Given the description of an element on the screen output the (x, y) to click on. 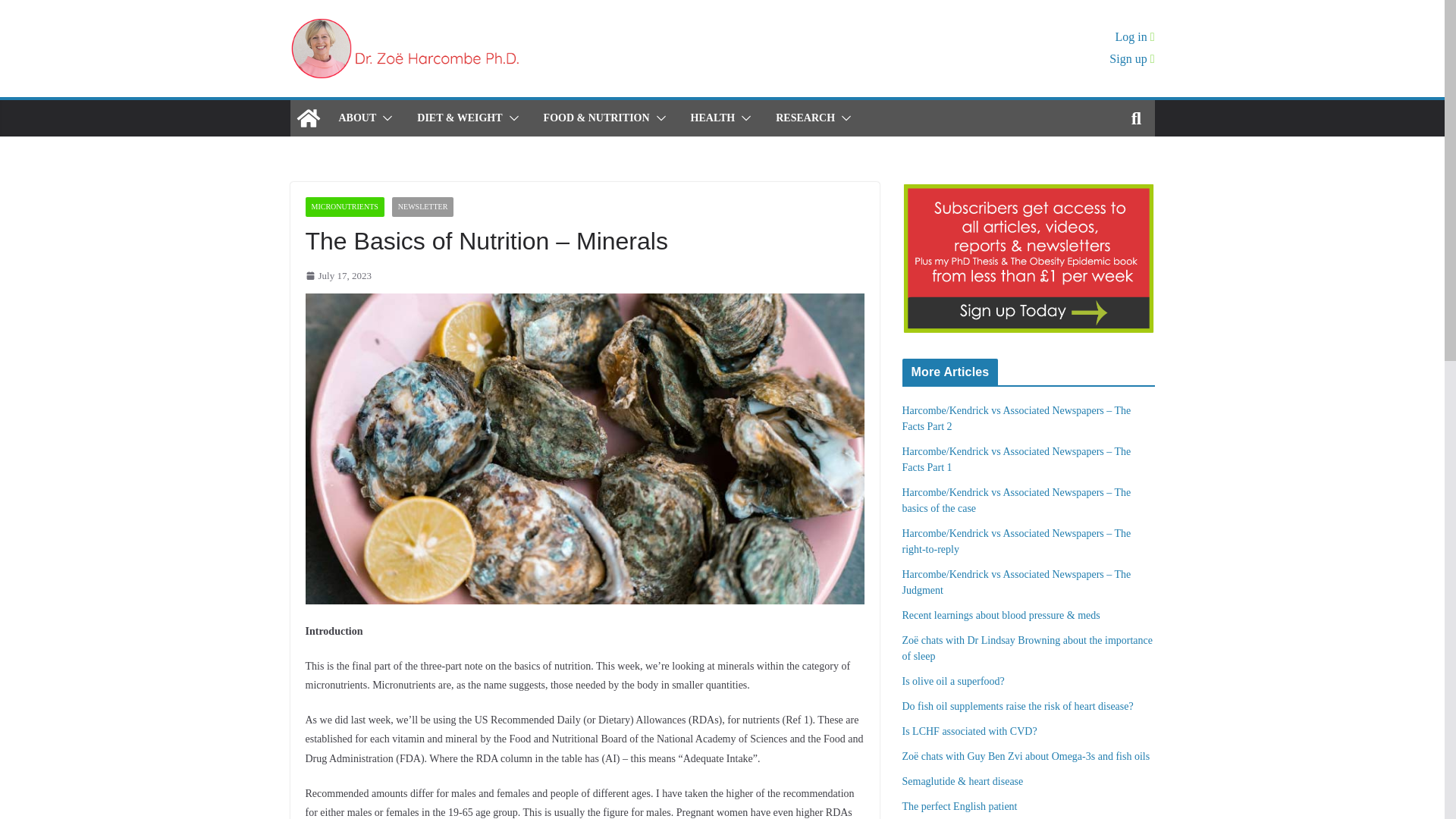
Sign up (1131, 58)
HEALTH (712, 117)
11:30 am (337, 275)
ABOUT (356, 117)
Log in (1134, 36)
